Given the description of an element on the screen output the (x, y) to click on. 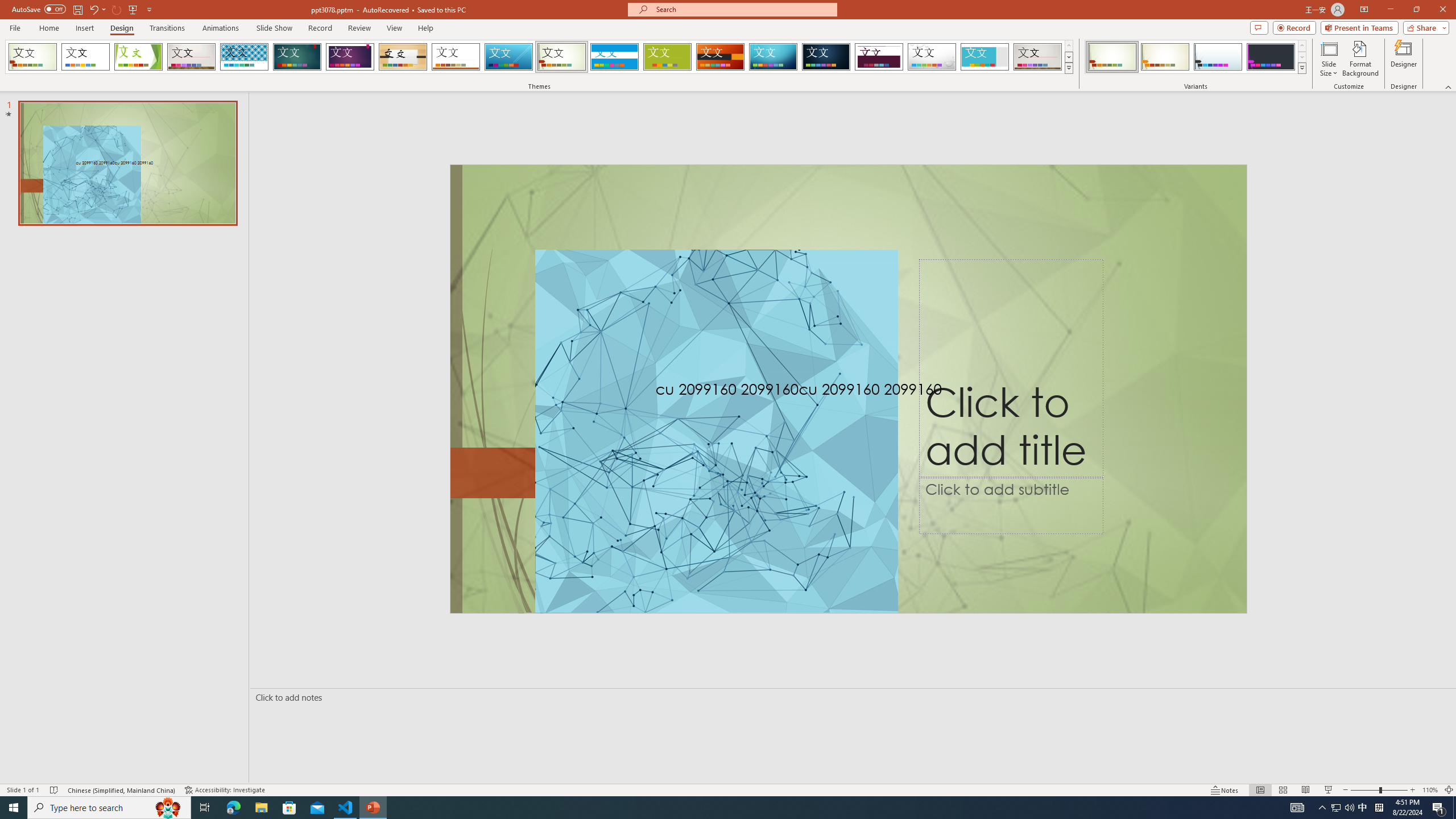
Banded (614, 56)
Gallery (1037, 56)
